Given the description of an element on the screen output the (x, y) to click on. 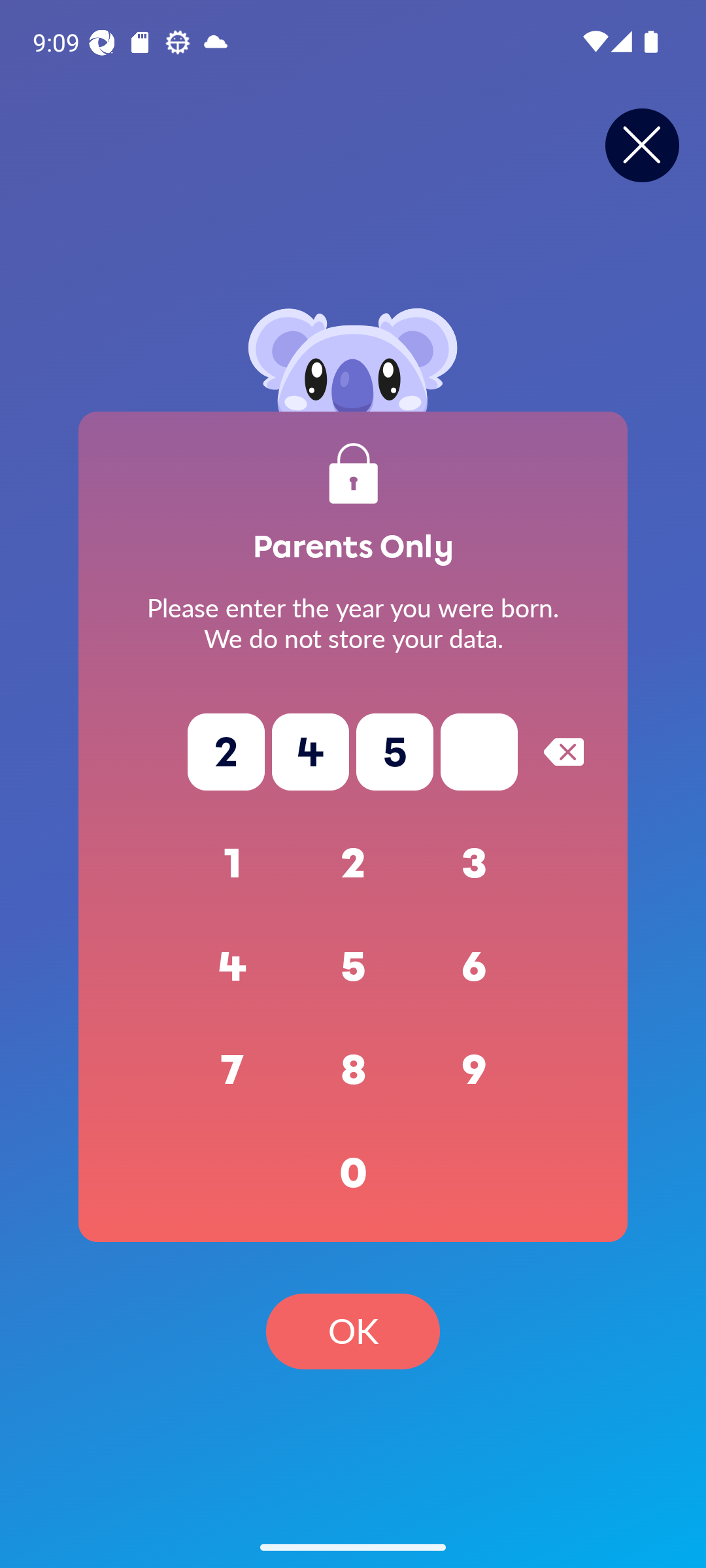
Delete (563, 751)
1 (232, 863)
2 (353, 863)
3 (474, 863)
4 (232, 966)
5 (353, 966)
6 (474, 966)
7 (232, 1069)
8 (353, 1069)
9 (474, 1069)
0 (353, 1173)
OK (352, 1331)
